Given the description of an element on the screen output the (x, y) to click on. 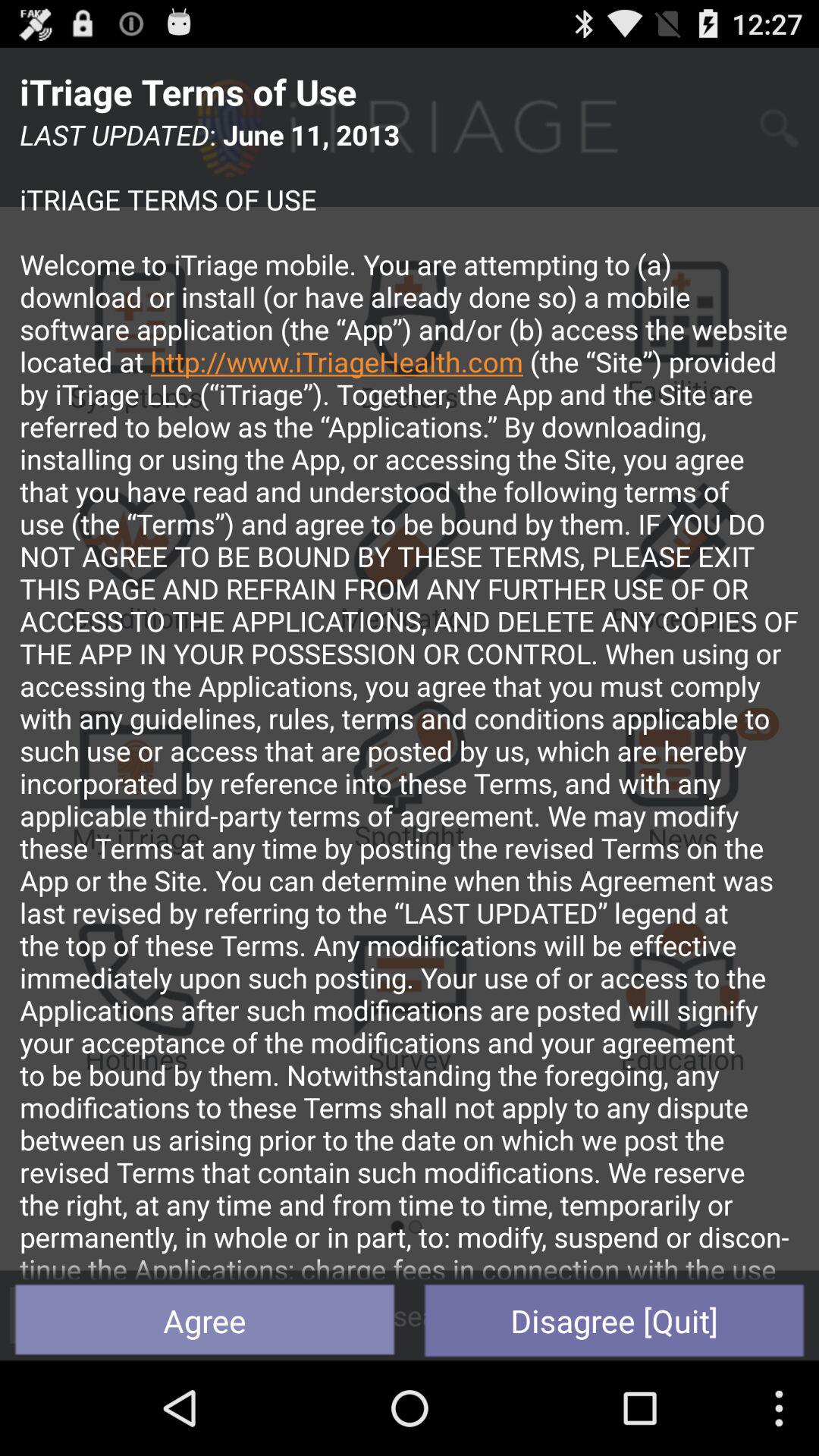
open the icon at the bottom left corner (204, 1320)
